Given the description of an element on the screen output the (x, y) to click on. 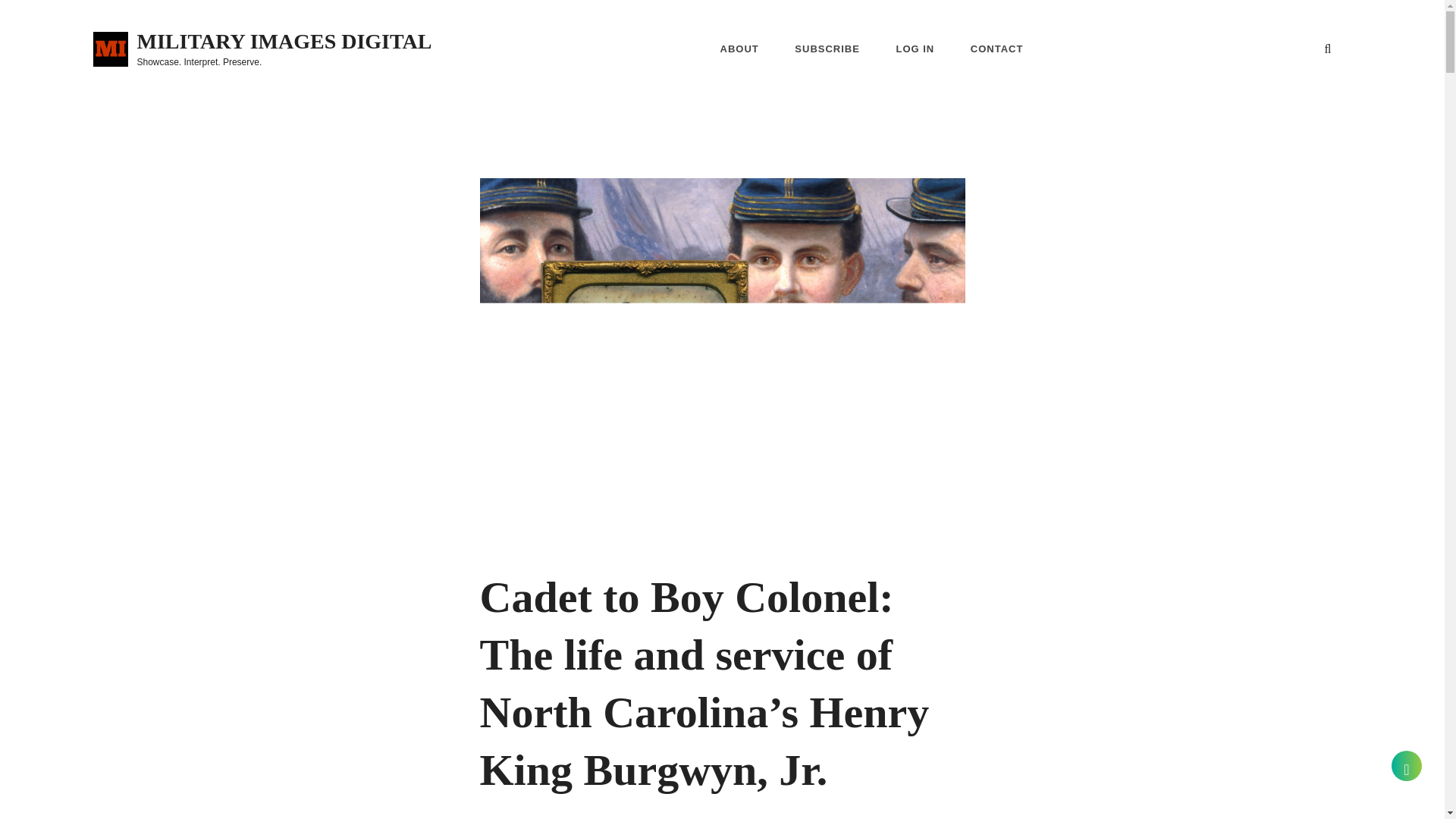
ABOUT (739, 49)
Scroll Up (1406, 766)
CONTACT (997, 49)
SEARCH (1327, 48)
MILITARY IMAGES DIGITAL (283, 41)
LOG IN (914, 49)
SUBSCRIBE (827, 49)
